Given the description of an element on the screen output the (x, y) to click on. 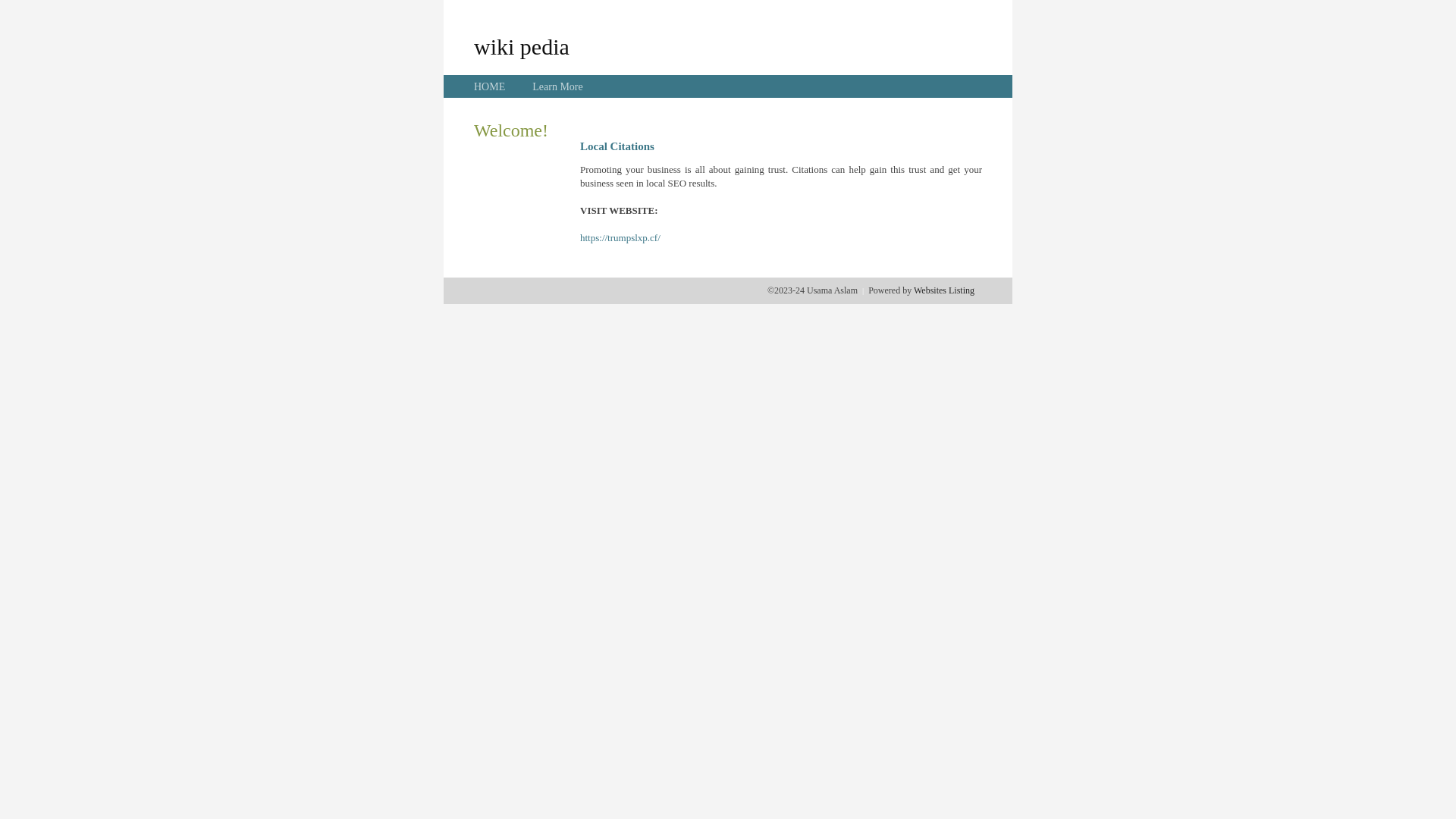
Learn More Element type: text (557, 86)
https://trumpslxp.cf/ Element type: text (620, 237)
HOME Element type: text (489, 86)
wiki pedia Element type: text (521, 46)
Websites Listing Element type: text (943, 290)
